Given the description of an element on the screen output the (x, y) to click on. 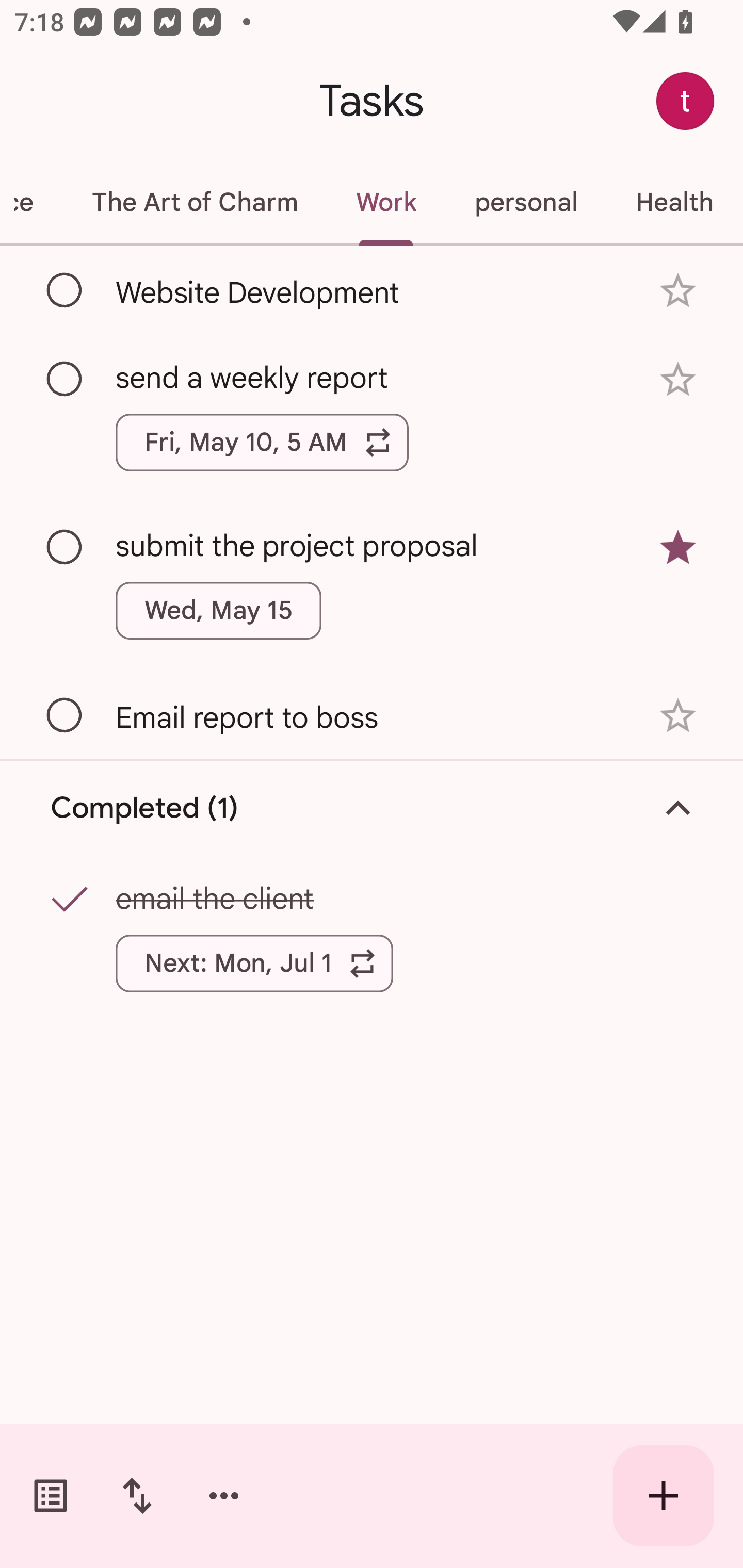
The Art of Charm (194, 202)
personal (525, 202)
Health (674, 202)
Add star (677, 290)
Mark as complete (64, 290)
Add star (677, 379)
Mark as complete (64, 379)
Fri, May 10, 5 AM (261, 442)
Remove star (677, 547)
Mark as complete (64, 547)
Wed, May 15 (218, 610)
Add star (677, 715)
Mark as complete (64, 715)
Completed (1) (371, 808)
Mark as not complete (64, 900)
Next: Mon, Jul 1 (254, 963)
Switch task lists (50, 1495)
Create new task (663, 1495)
Change sort order (136, 1495)
More options (223, 1495)
